Given the description of an element on the screen output the (x, y) to click on. 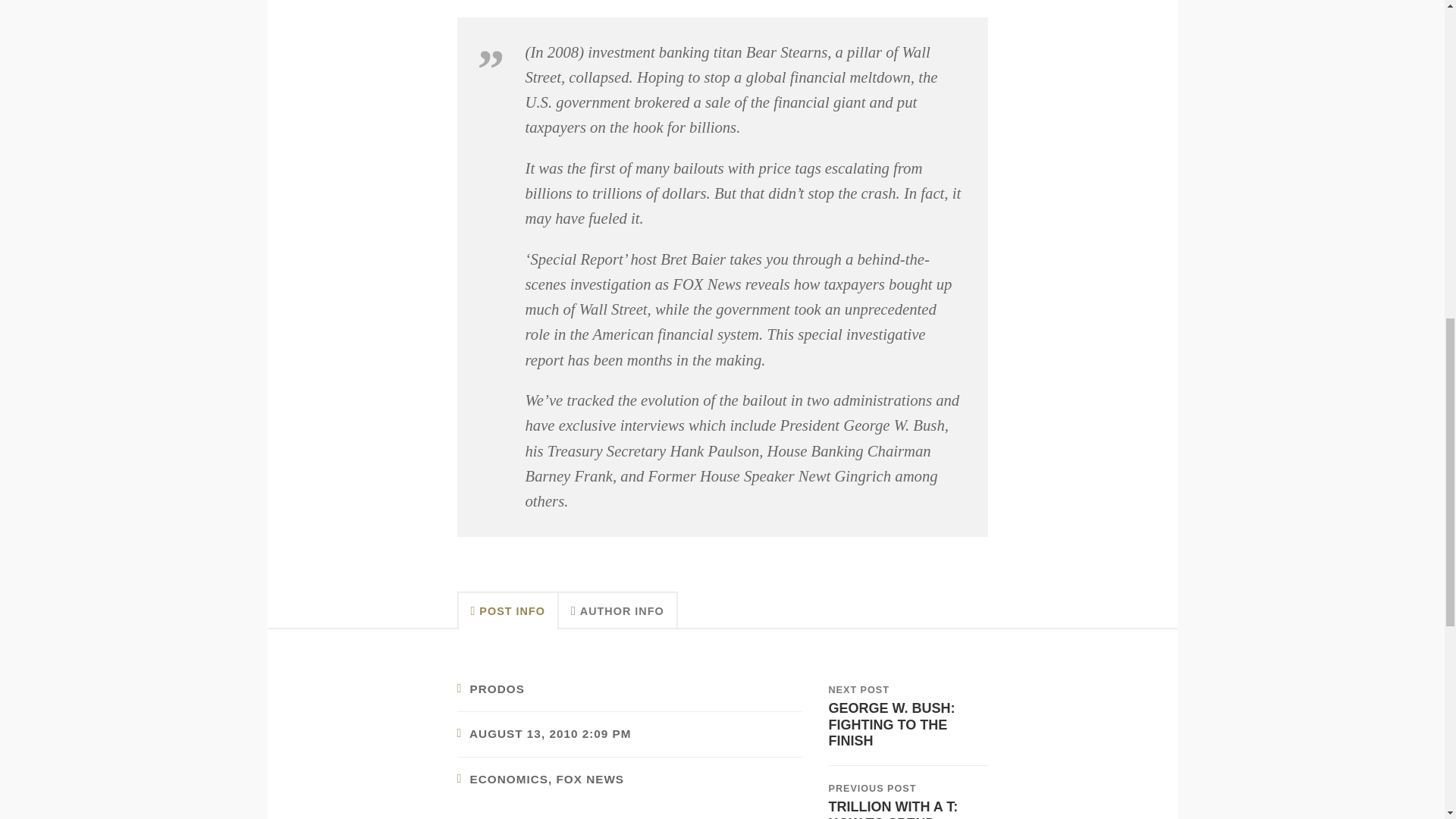
AUGUST 13, 2010 2:09 PM (549, 733)
ECONOMICS (509, 779)
Posts by prodos (497, 688)
POST INFO (507, 610)
AUTHOR INFO (618, 610)
PRODOS (497, 688)
FOX NEWS (907, 716)
